Given the description of an element on the screen output the (x, y) to click on. 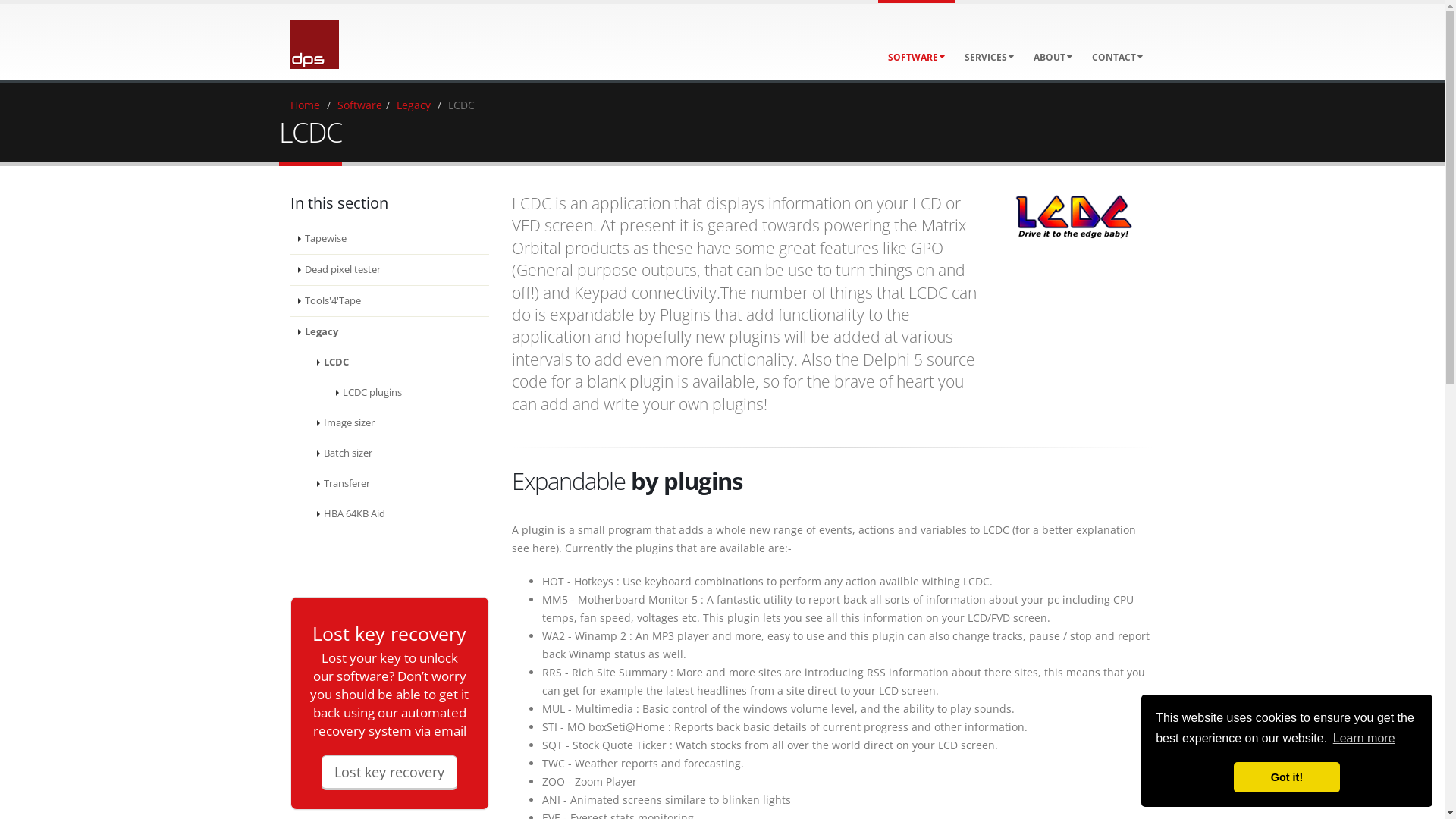
Home Element type: text (304, 104)
Legacy Element type: text (412, 104)
Legacy Element type: text (389, 331)
LCDC plugins Element type: text (408, 392)
lol Element type: hover (1072, 216)
HBA 64KB Aid Element type: text (399, 513)
Batch sizer Element type: text (399, 453)
Tools'4'Tape Element type: text (389, 300)
Transferer Element type: text (399, 483)
LCDC Element type: text (399, 362)
Image sizer Element type: text (399, 422)
Got it! Element type: text (1286, 777)
Software Element type: text (358, 104)
Tapewise Element type: text (389, 238)
Learn more Element type: text (1363, 738)
Dead pixel tester Element type: text (389, 269)
Lost key recovery Element type: text (389, 772)
